Given the description of an element on the screen output the (x, y) to click on. 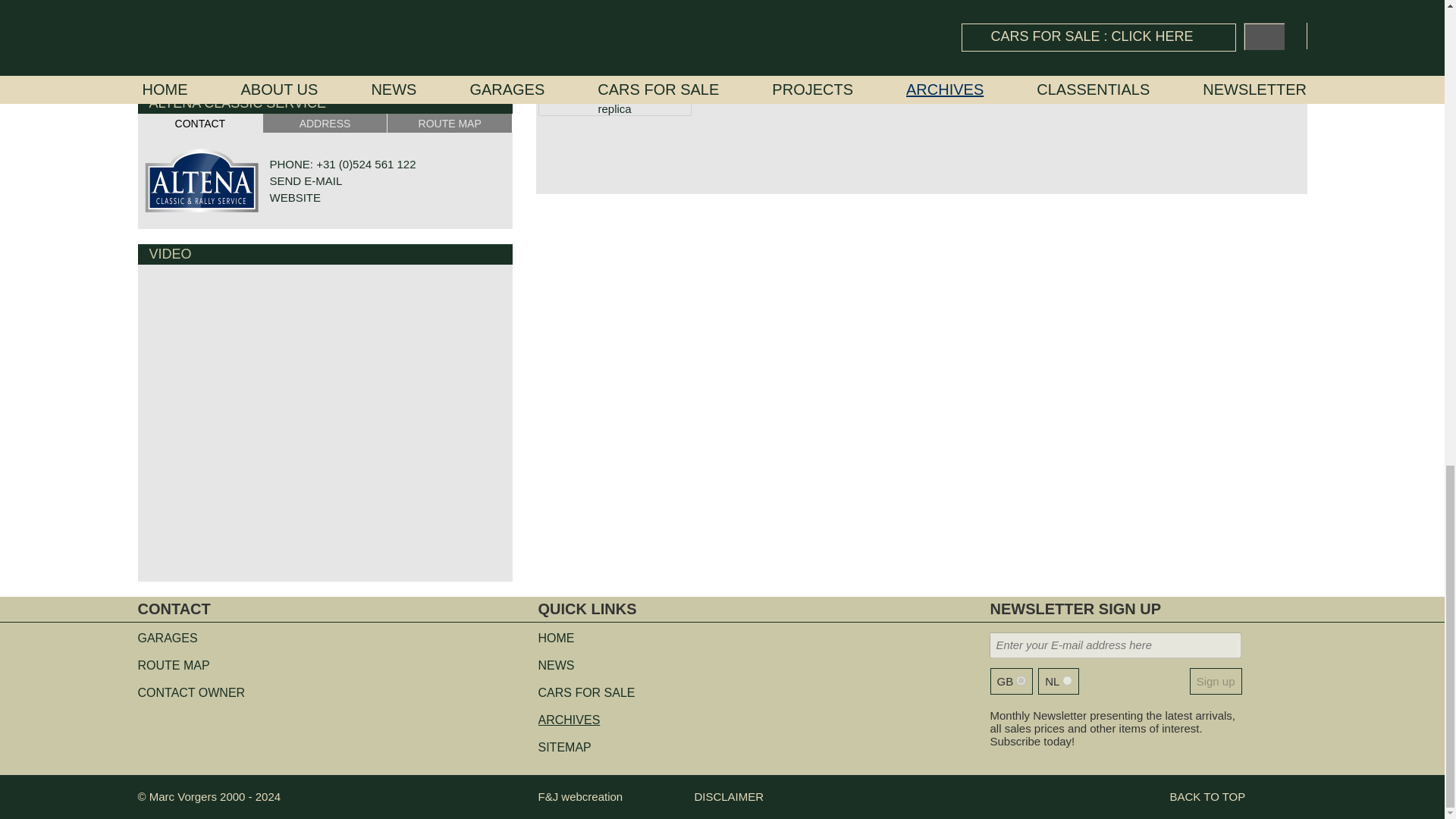
WEBSITE (295, 196)
Sign up (1215, 680)
nl (1066, 680)
SEND E-MAIL (305, 180)
en (1021, 680)
